Given the description of an element on the screen output the (x, y) to click on. 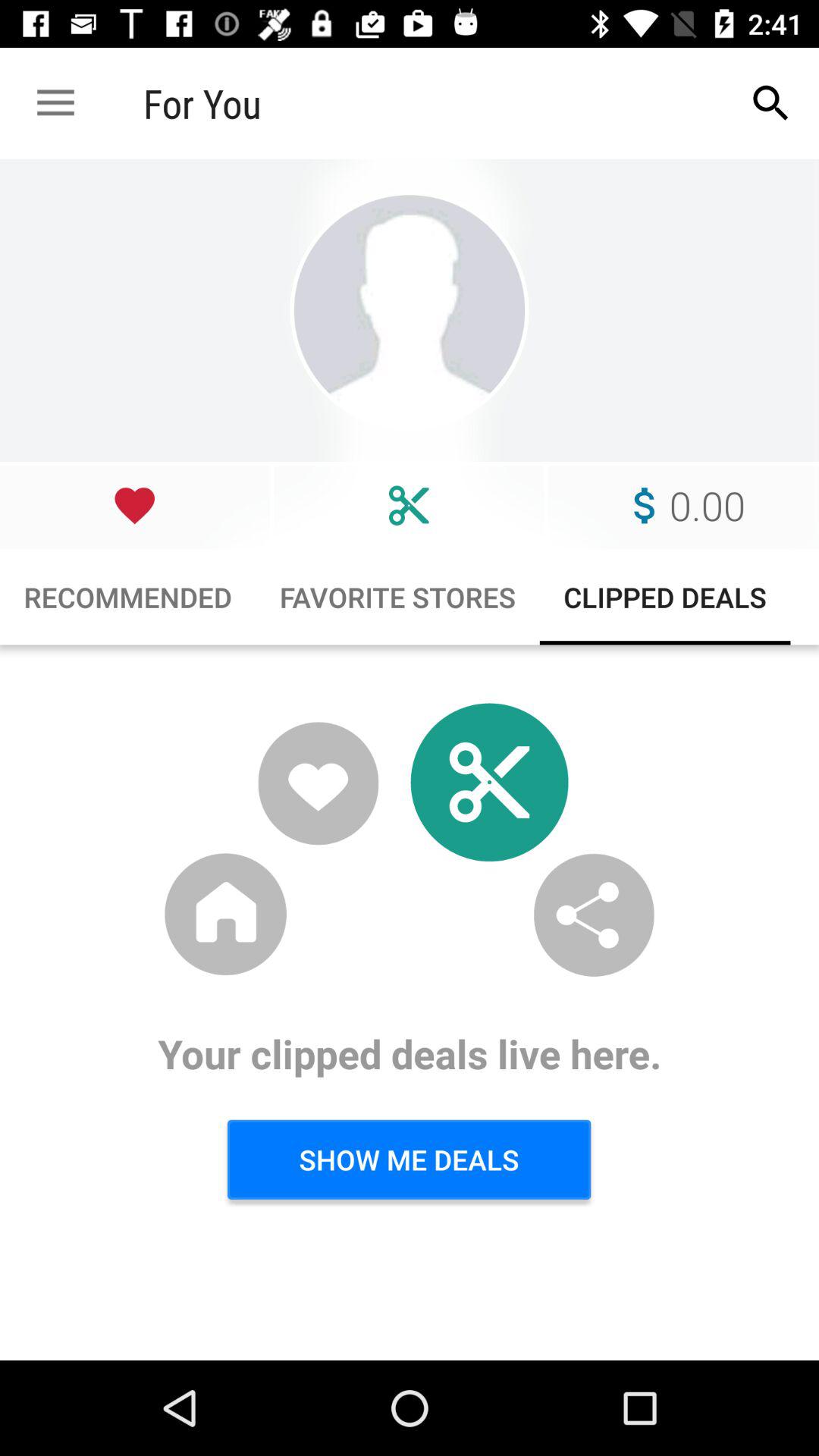
turn off item at the top right corner (771, 103)
